Given the description of an element on the screen output the (x, y) to click on. 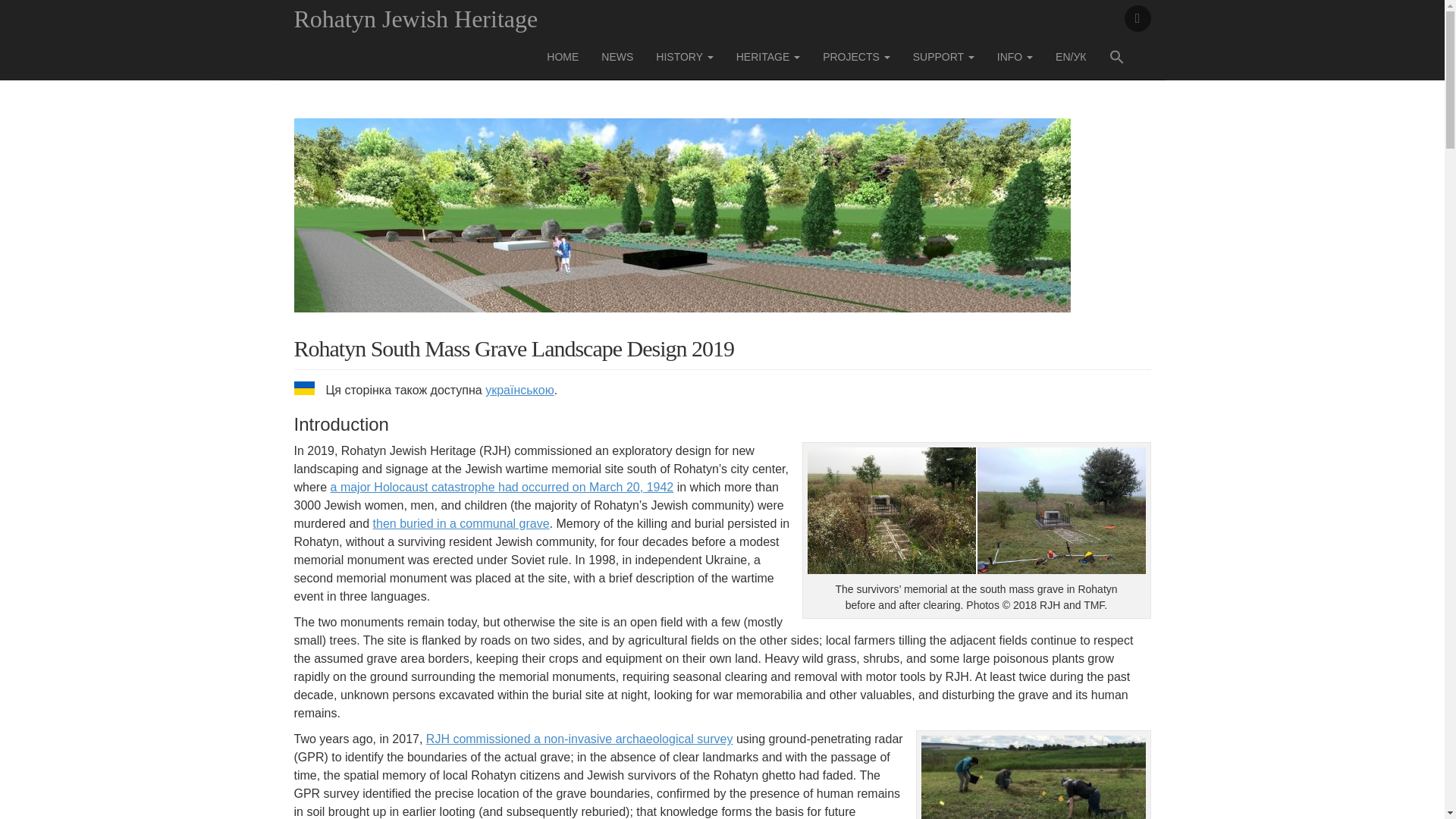
Rohatyn South Mass Grave Landscape Design 2019 (682, 225)
Rohatyn Jewish Heritage (416, 18)
More Information (1014, 56)
NEWS (617, 56)
Rohatyn Jewish Heritage (416, 18)
PROJECTS (855, 56)
HOME (562, 56)
SUPPORT (943, 56)
HISTORY (684, 56)
HERITAGE (767, 56)
